Given the description of an element on the screen output the (x, y) to click on. 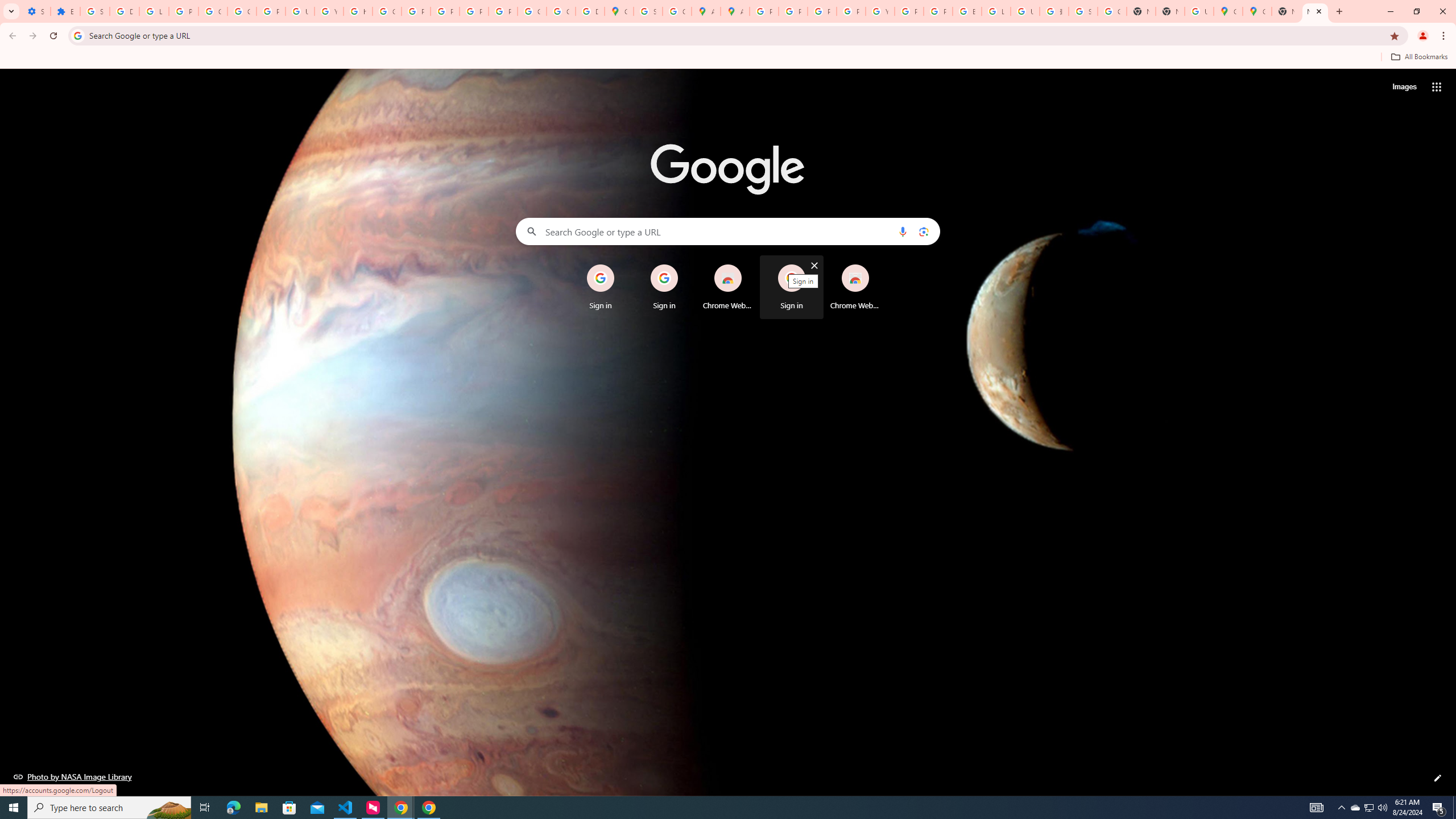
New Tab (1169, 11)
Policy Accountability and Transparency - Transparency Center (763, 11)
https://scholar.google.com/ (357, 11)
New Tab (1315, 11)
Remove (878, 265)
Google Maps (1227, 11)
